Given the description of an element on the screen output the (x, y) to click on. 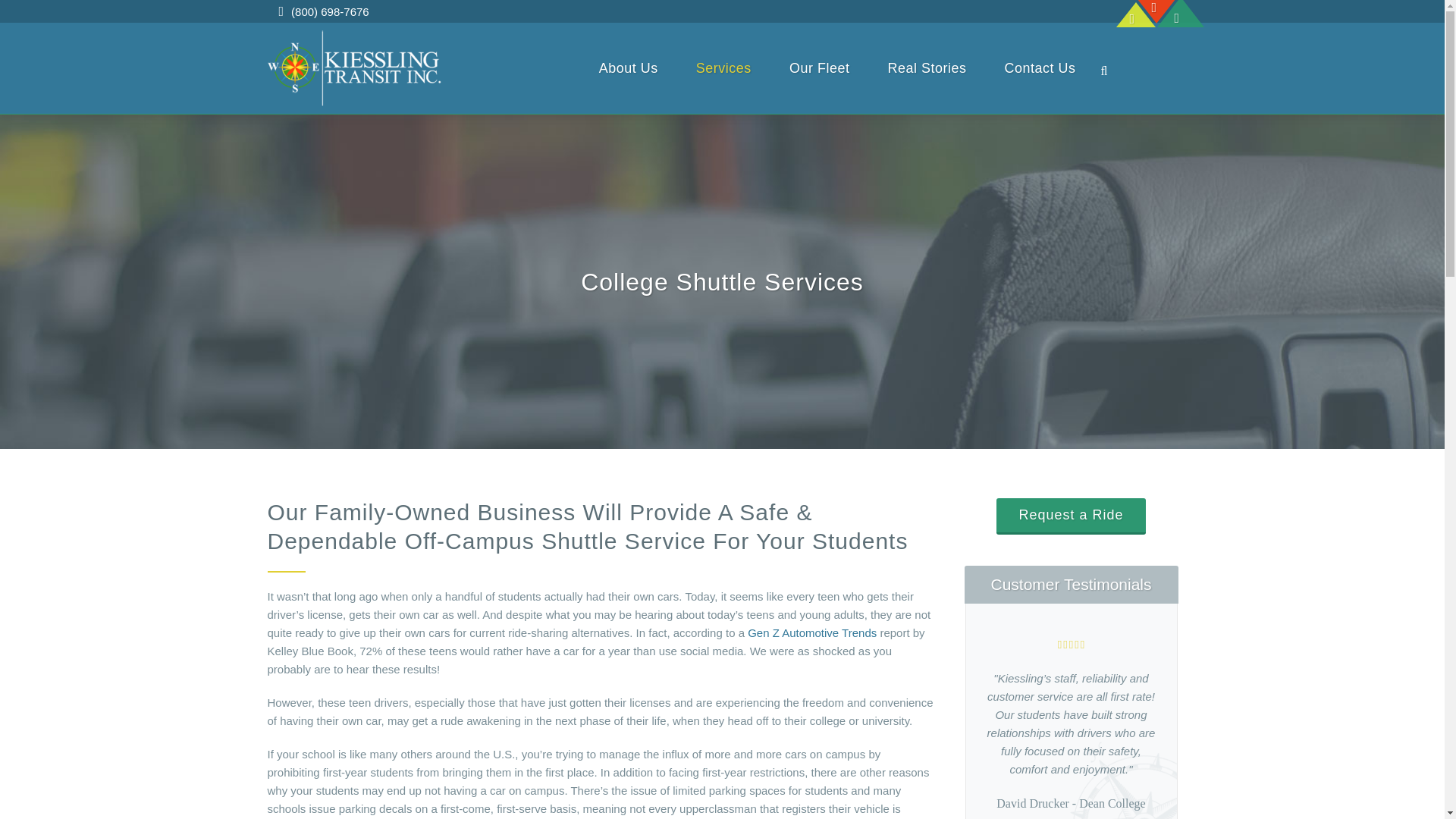
Gen Z Automotive Trends (812, 632)
Search icon - click to open search bar (1105, 68)
Services (723, 67)
Our Fleet (819, 67)
Contact Us (1039, 67)
About Us (628, 67)
Real Stories (926, 67)
